Given the description of an element on the screen output the (x, y) to click on. 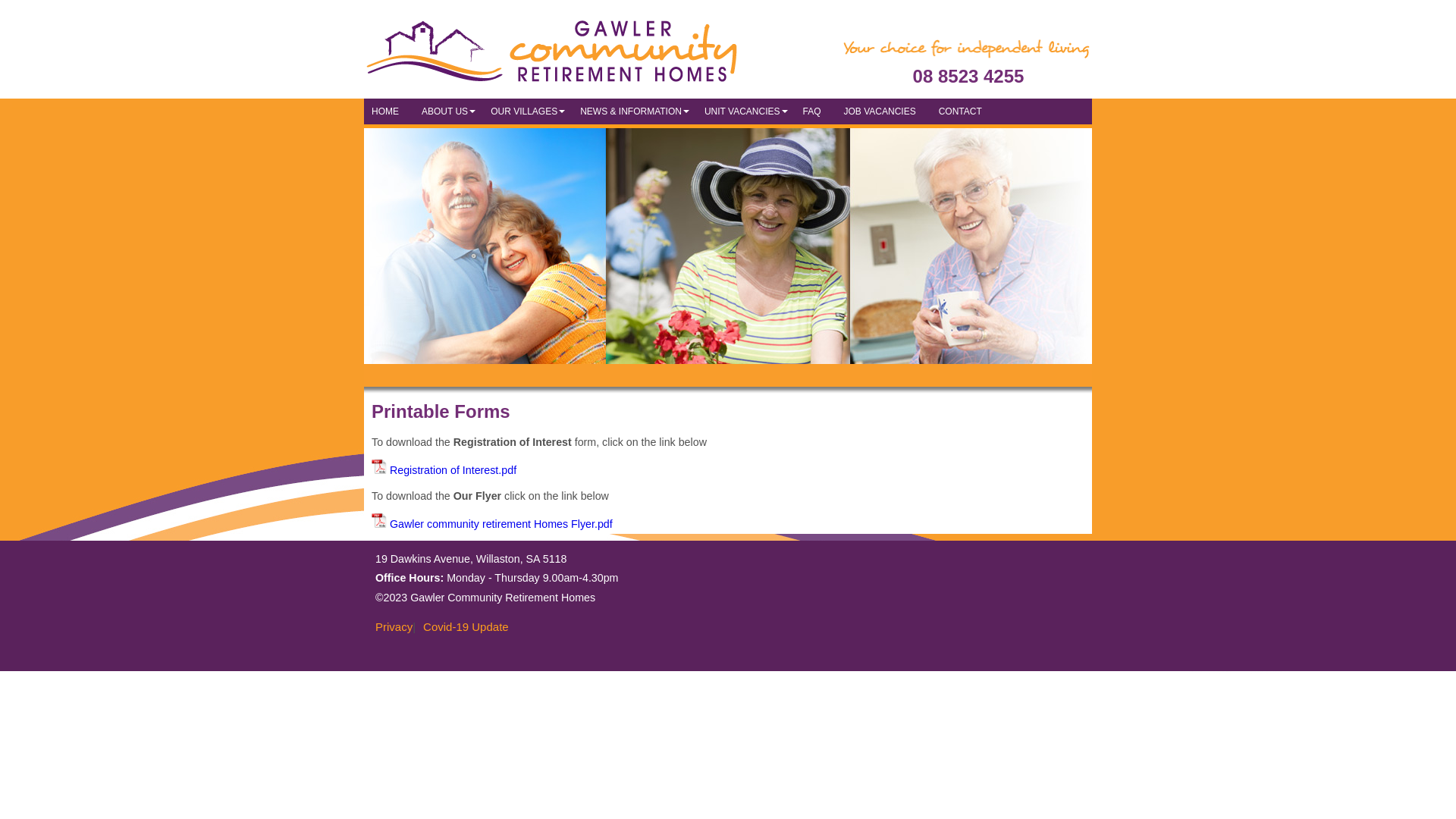
Gawler community retirement Homes Flyer.pdf Element type: text (491, 523)
Privacy Element type: text (389, 626)
CONTACT Element type: text (964, 111)
OUR VILLAGES Element type: text (527, 111)
FAQ Element type: text (815, 111)
HOME Element type: text (389, 111)
JOB VACANCIES Element type: text (883, 111)
ABOUT US Element type: text (448, 111)
Registration of Interest.pdf Element type: text (443, 470)
NEWS & INFORMATION Element type: text (634, 111)
08 8523 4255 Element type: text (966, 61)
Covid-19 Update Element type: text (461, 626)
UNIT VACANCIES Element type: text (745, 111)
